Given the description of an element on the screen output the (x, y) to click on. 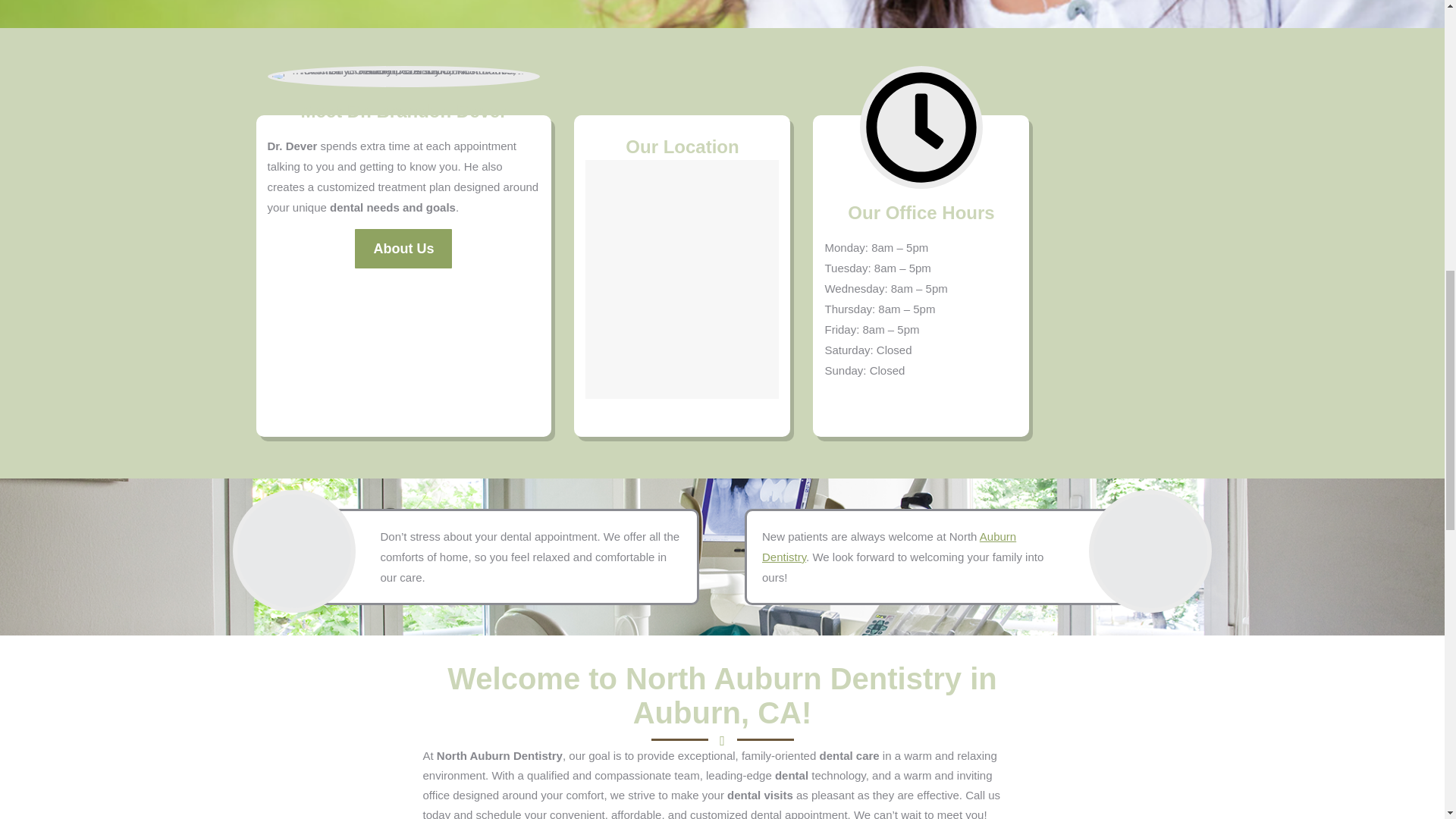
clock-regular (921, 127)
